Given the description of an element on the screen output the (x, y) to click on. 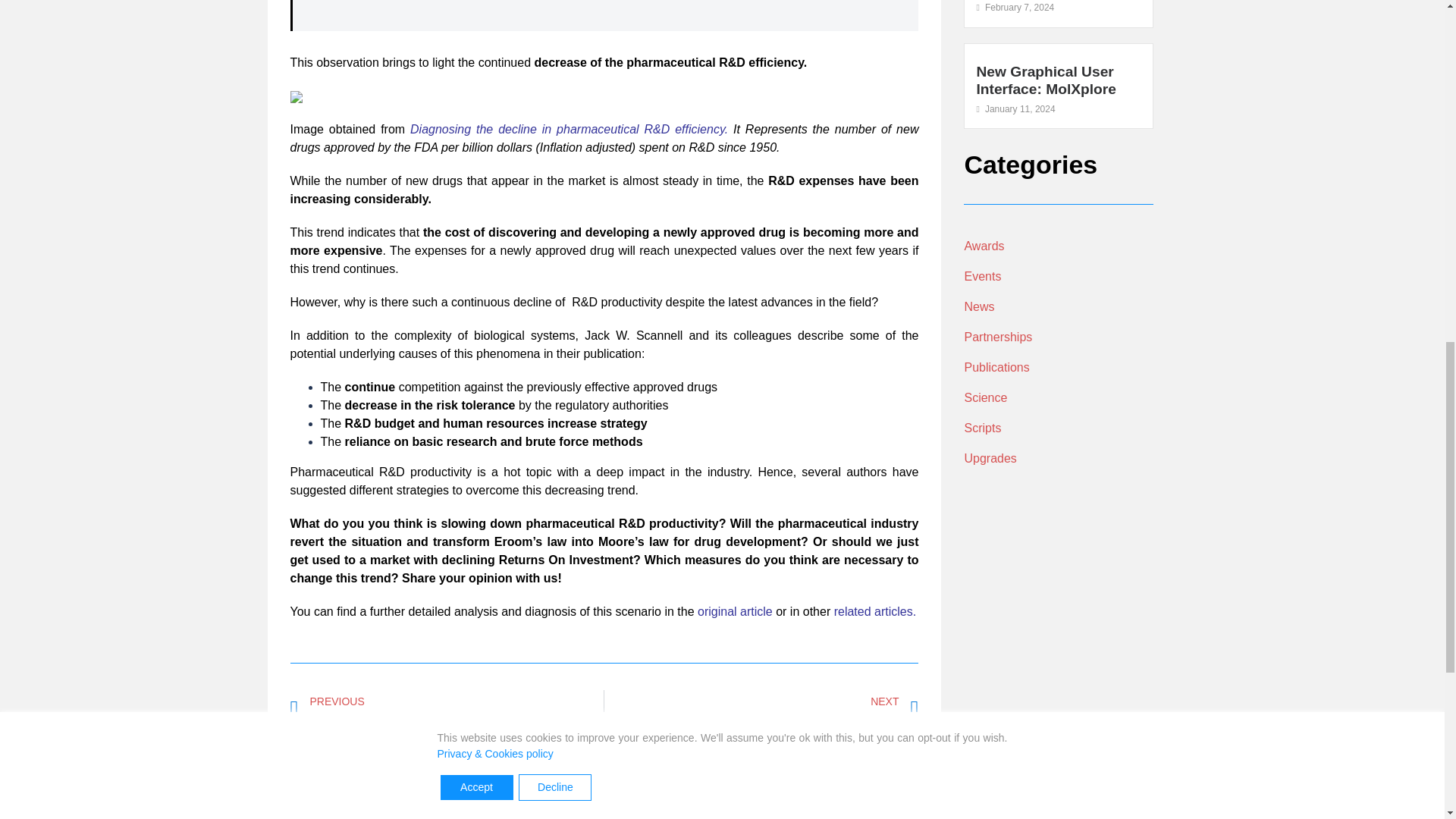
original article (735, 611)
Awards (761, 709)
New Graphical User Interface: MolXplore (1058, 245)
New Graphical User Interface: MolXplore (1045, 80)
related articles (1045, 80)
